Given the description of an element on the screen output the (x, y) to click on. 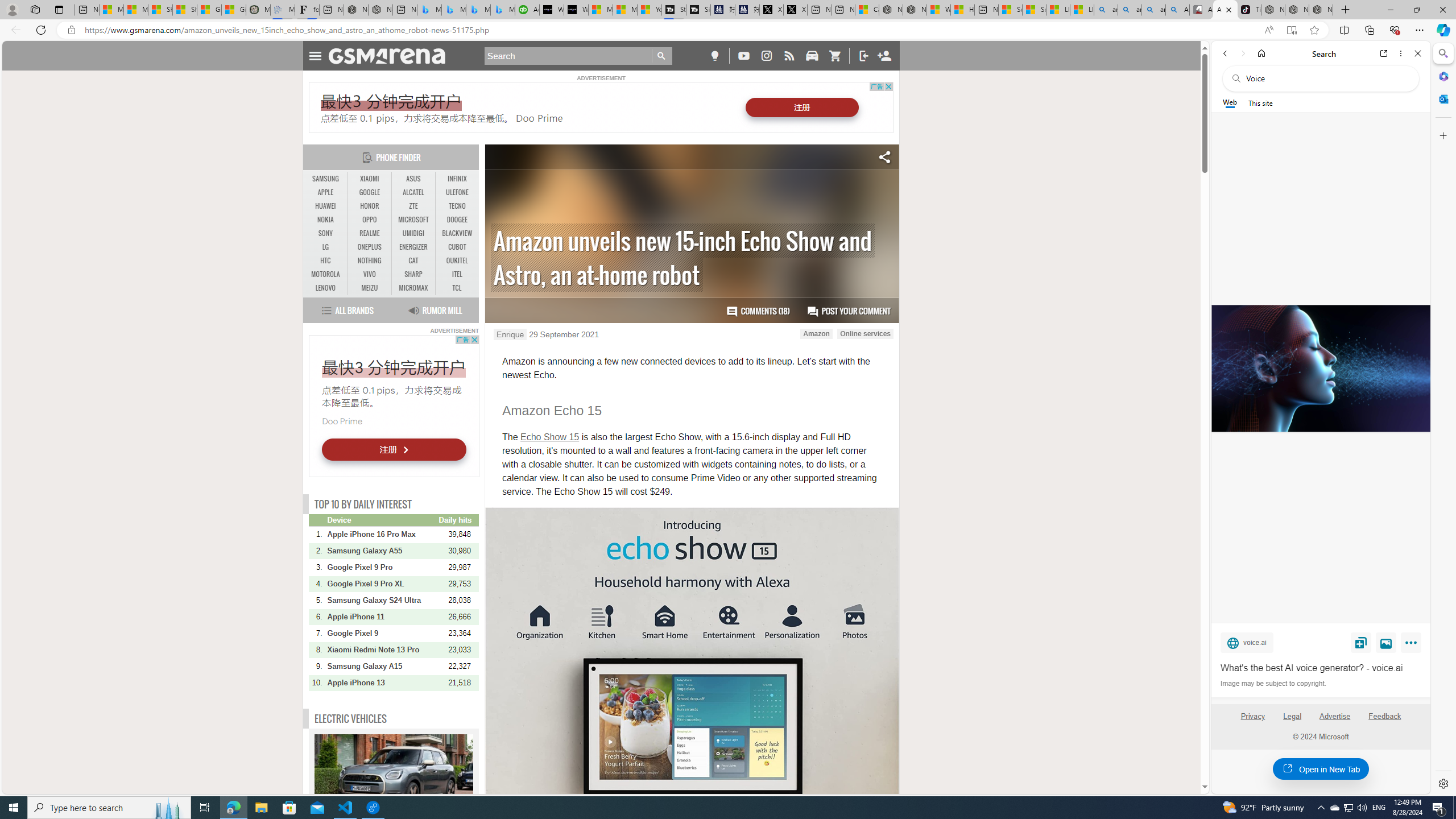
ENERGIZER (413, 246)
amazon - Search Images (1153, 9)
Shanghai, China weather forecast | Microsoft Weather (184, 9)
ZTE (413, 205)
MICROMAX (413, 287)
NOTHING (369, 260)
SONY (325, 233)
TCL (457, 287)
OPPO (369, 219)
Go (662, 55)
